Given the description of an element on the screen output the (x, y) to click on. 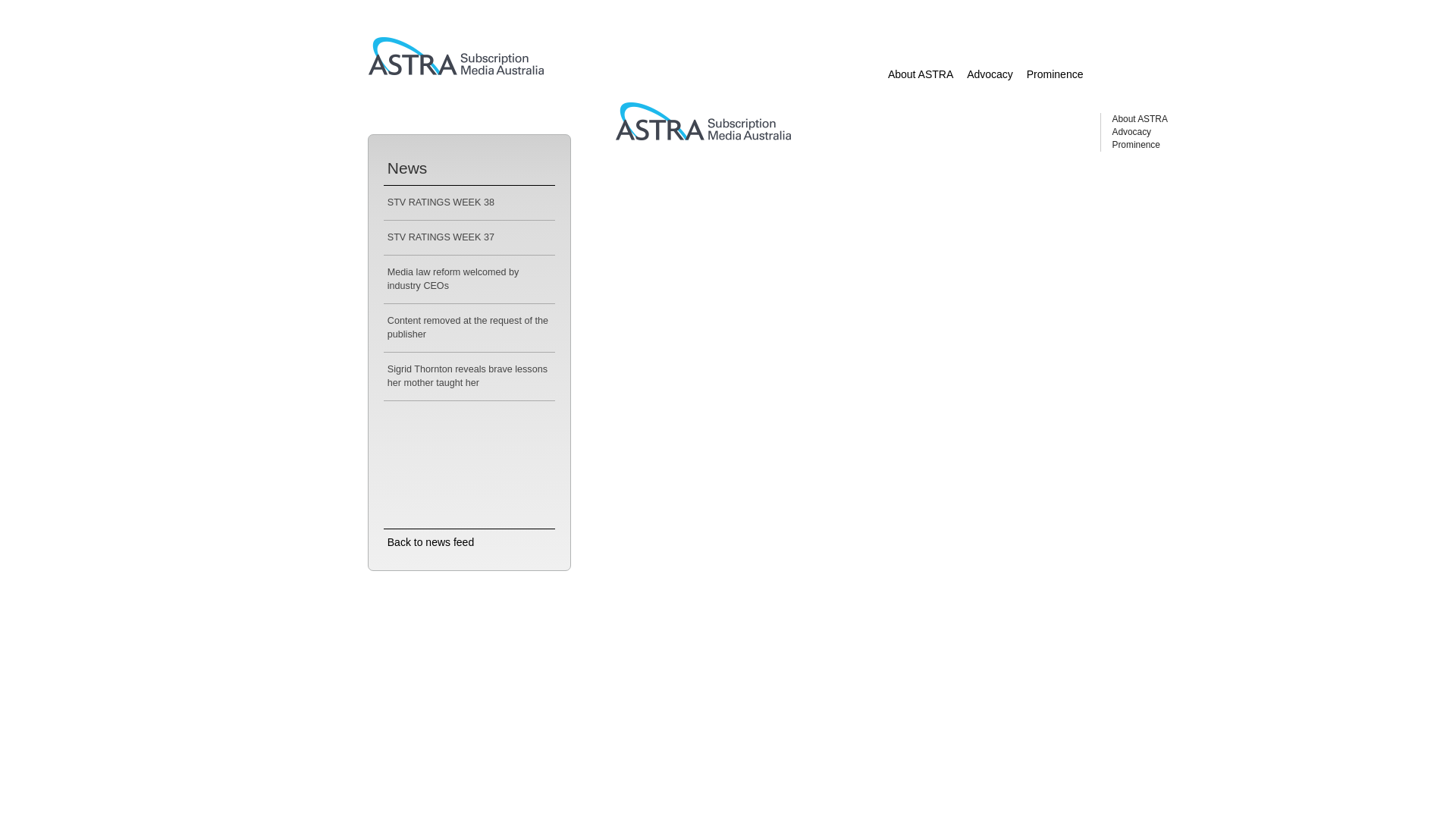
Prominence Element type: text (1054, 74)
Back to news feed Element type: text (430, 542)
Prominence Element type: text (1135, 144)
STV RATINGS WEEK 37 Element type: text (440, 237)
Sigrid Thornton reveals brave lessons her mother taught her Element type: text (467, 376)
Content removed at the request of the publisher Element type: text (467, 327)
Media law reform welcomed by industry CEOs Element type: text (453, 278)
Advocacy Element type: text (989, 74)
About ASTRA Element type: text (1139, 118)
STV RATINGS WEEK 38 Element type: text (440, 202)
Advocacy Element type: text (1131, 131)
About ASTRA Element type: text (920, 74)
